Given the description of an element on the screen output the (x, y) to click on. 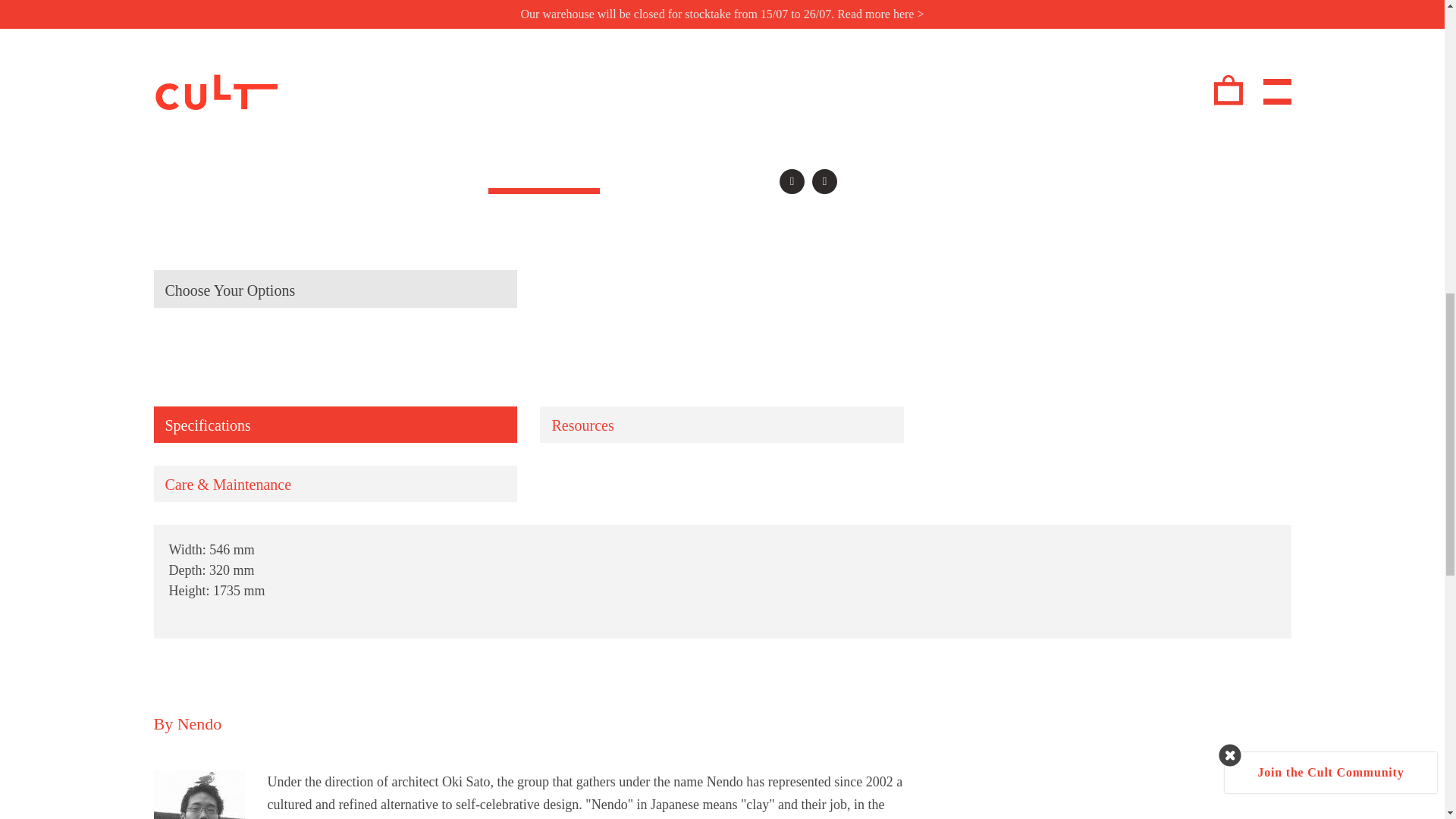
true (1168, 542)
Subscribe (1292, 584)
